Given the description of an element on the screen output the (x, y) to click on. 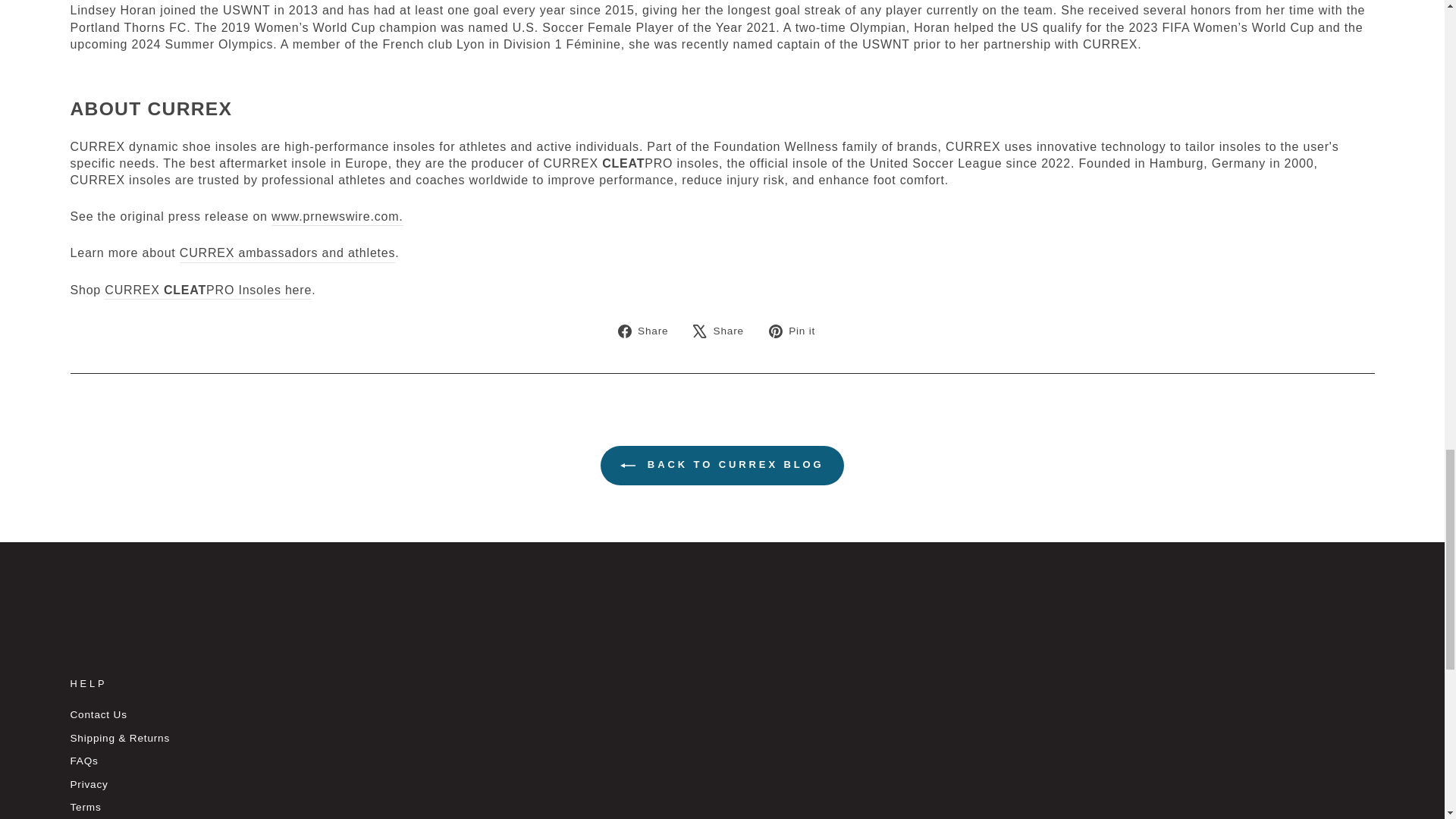
ICON-LEFT-ARROW (627, 465)
Pin on Pinterest (797, 330)
Tweet on X (724, 330)
Share on Facebook (648, 330)
